Given the description of an element on the screen output the (x, y) to click on. 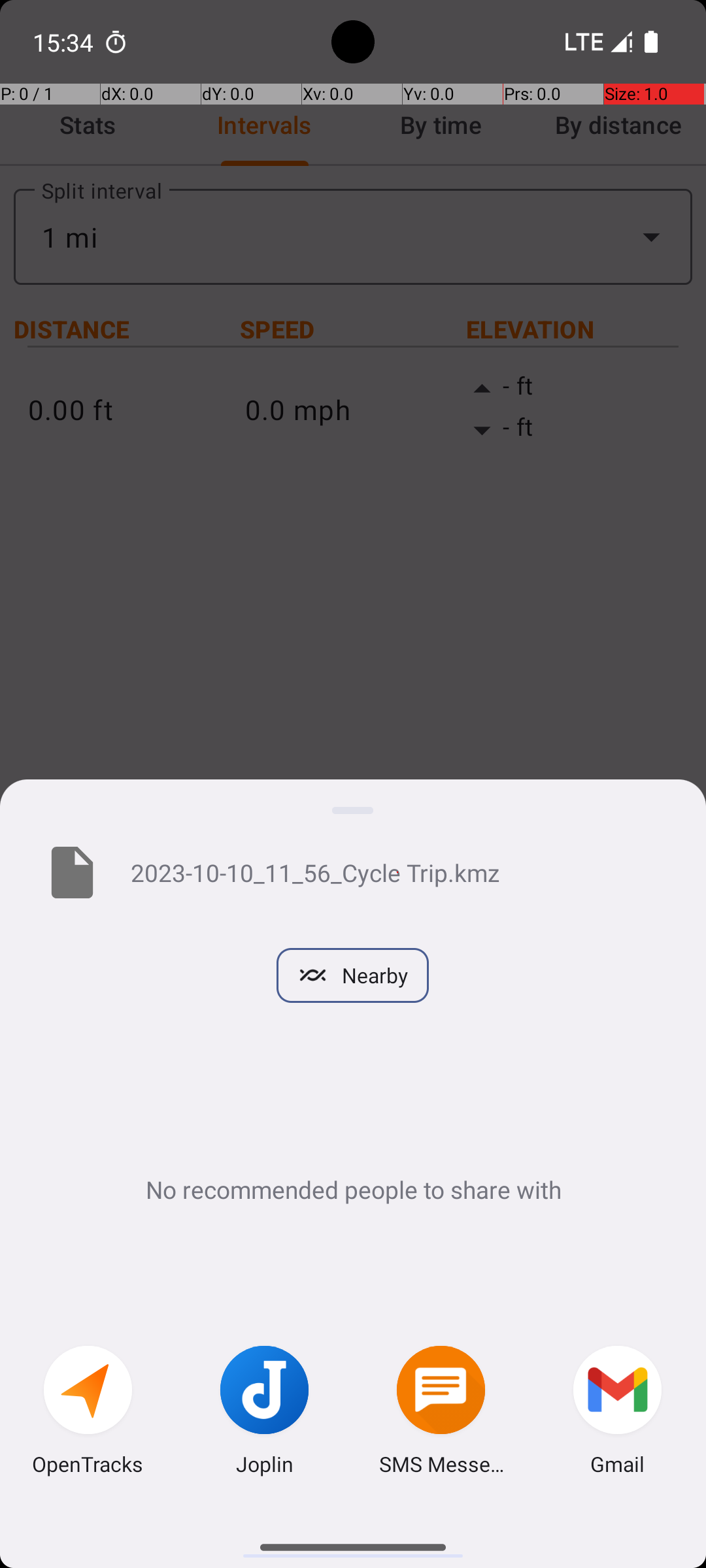
2023-10-10_11_56_Cycle Trip.kmz Element type: android.widget.TextView (397, 872)
